Given the description of an element on the screen output the (x, y) to click on. 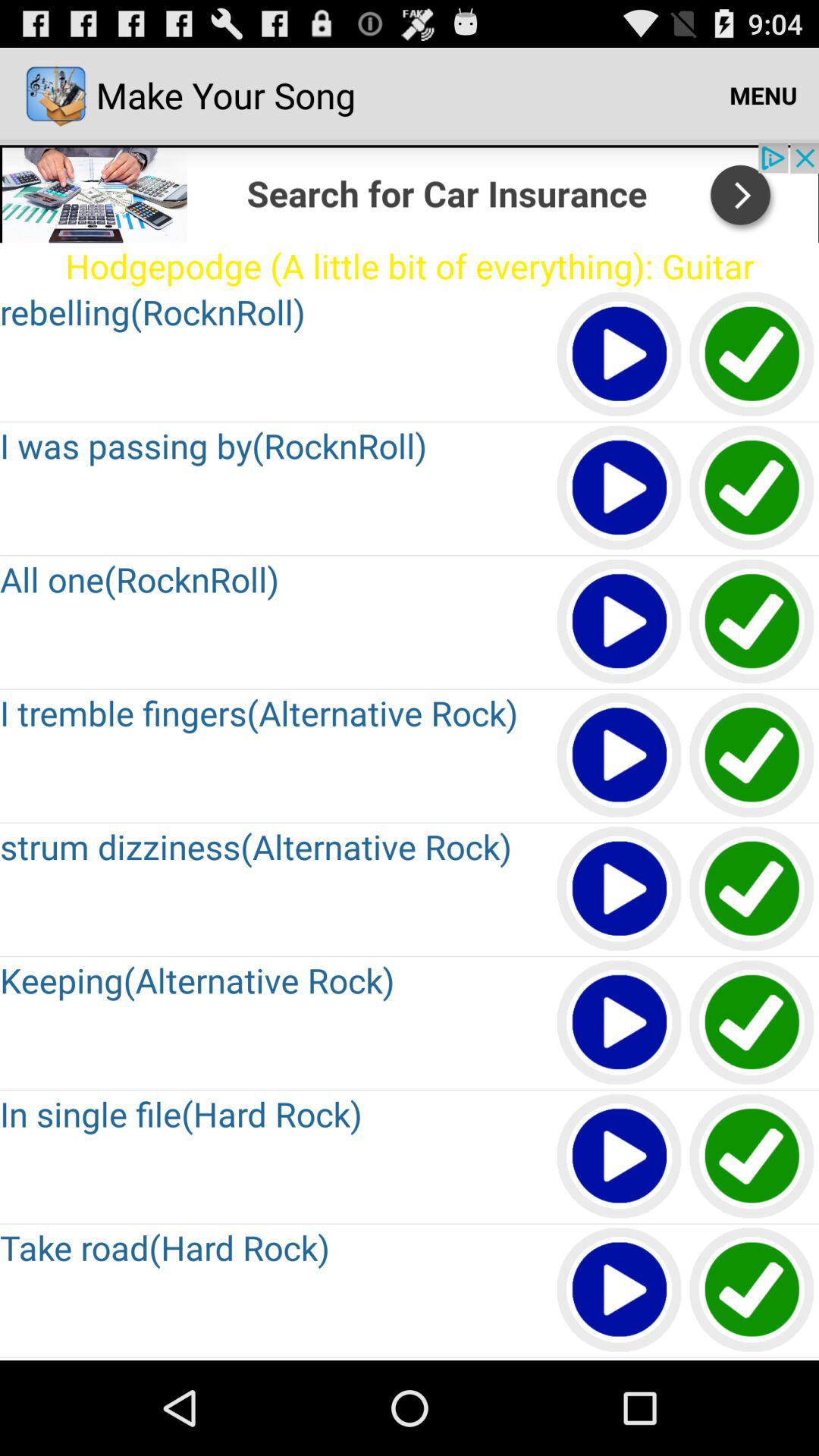
advertisement (409, 192)
